Given the description of an element on the screen output the (x, y) to click on. 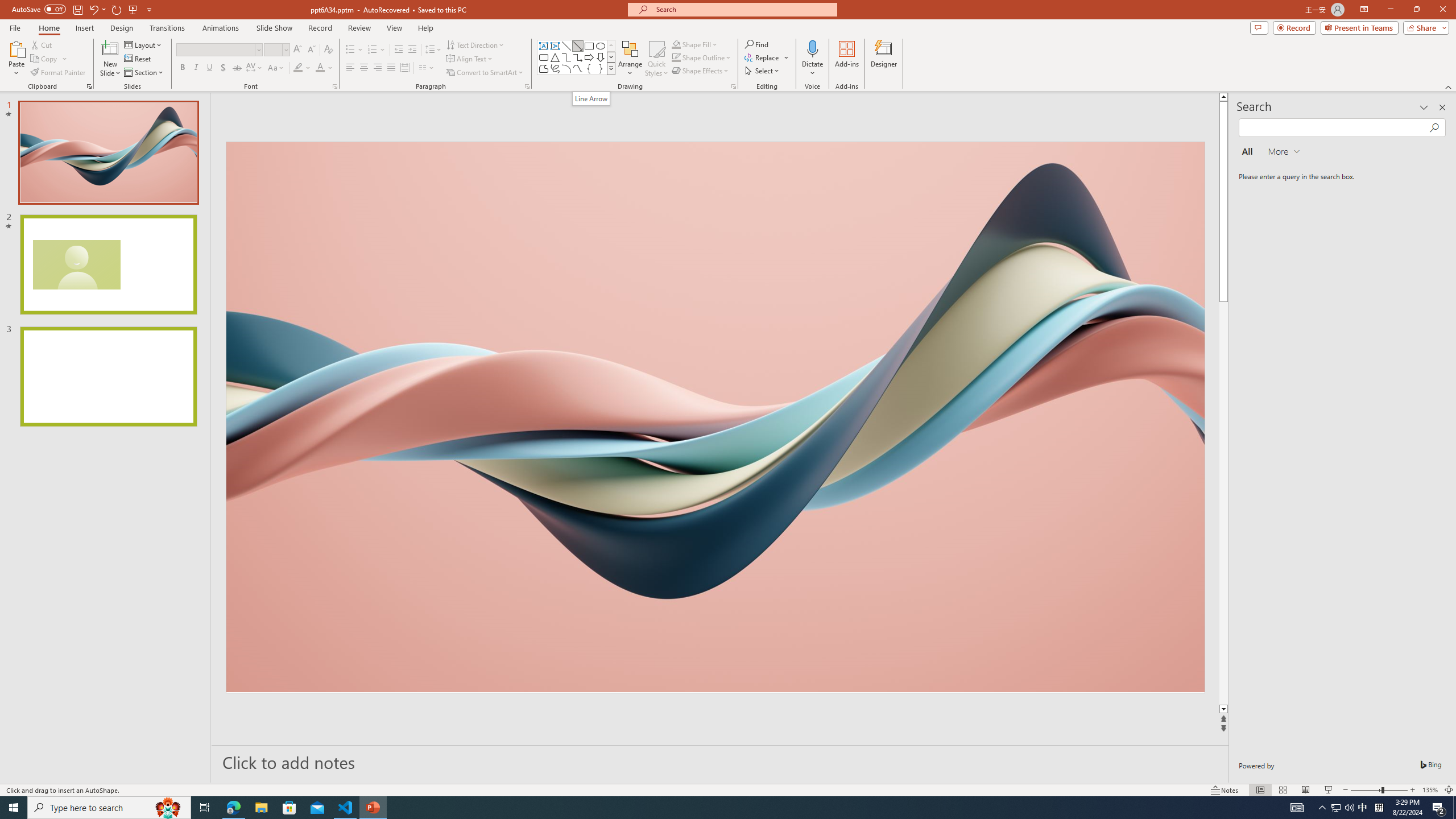
Isosceles Triangle (554, 57)
Close pane (1441, 107)
Quick Styles (656, 58)
AutomationID: ShapesInsertGallery (576, 57)
Connector: Elbow (566, 57)
Paste (16, 58)
Designer (883, 58)
